Given the description of an element on the screen output the (x, y) to click on. 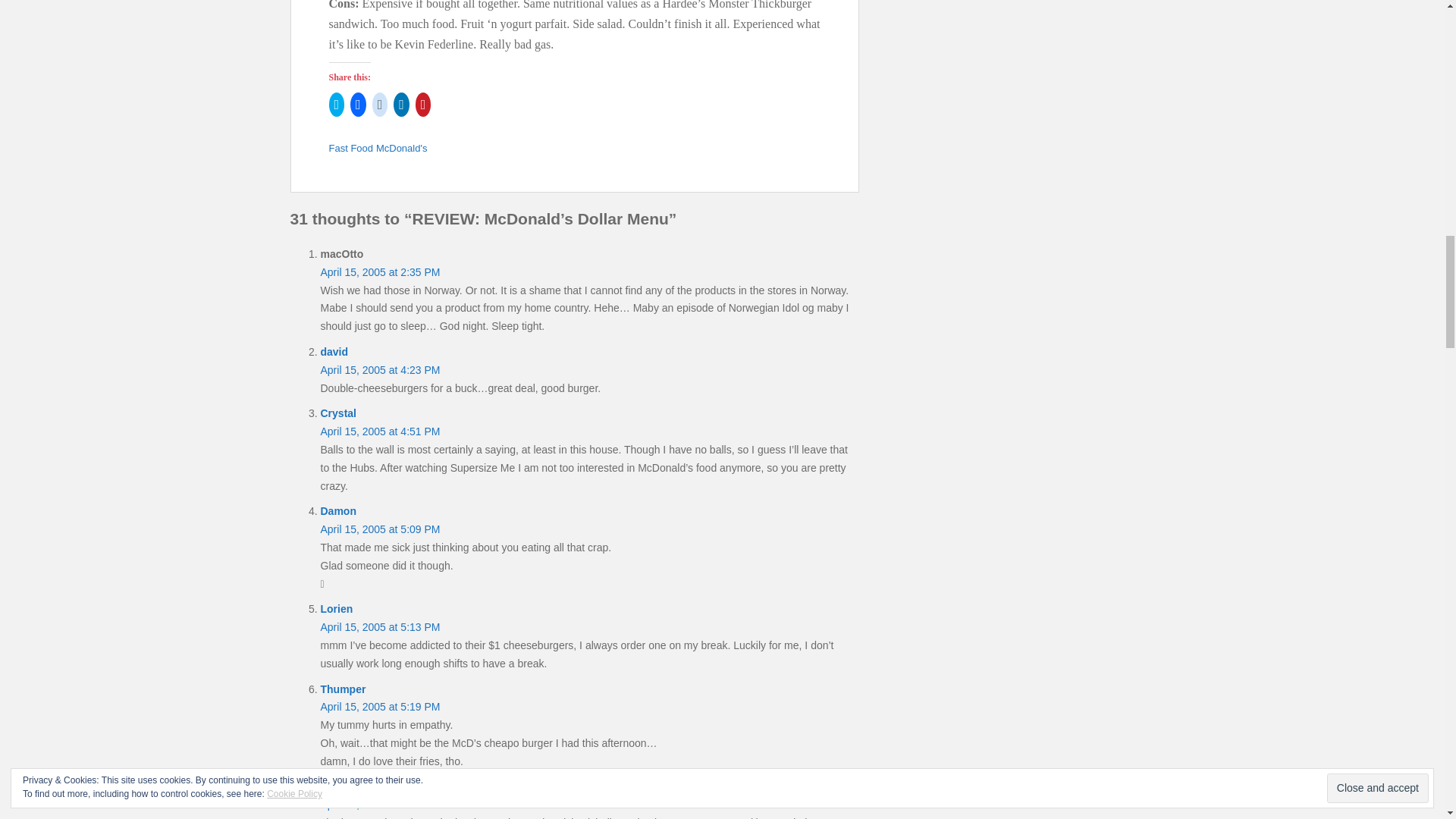
Fast Food (351, 147)
Crystal (337, 413)
April 15, 2005 at 6:49 PM (379, 804)
April 15, 2005 at 5:13 PM (379, 626)
Thumper (342, 689)
Lorien (336, 608)
April 15, 2005 at 4:51 PM (379, 431)
david (333, 351)
April 15, 2005 at 2:35 PM (379, 272)
McDonald's (401, 147)
